Given the description of an element on the screen output the (x, y) to click on. 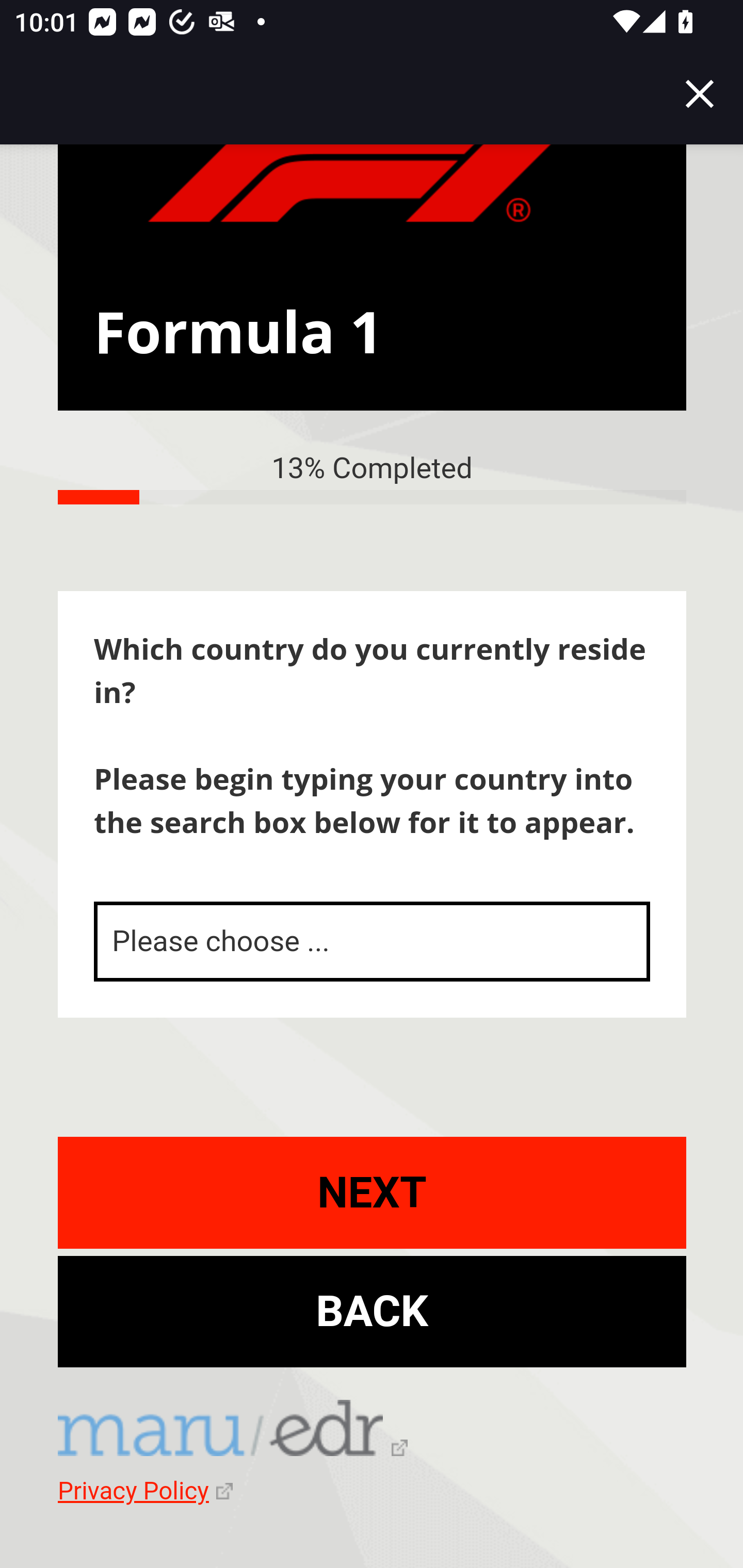
Close (699, 93)
Please choose ... (372, 941)
NEXT (372, 1192)
BACK (372, 1311)
Maru / edr  (233, 1431)
Privacy Policy  Privacy Policy    (144, 1489)
